Given the description of an element on the screen output the (x, y) to click on. 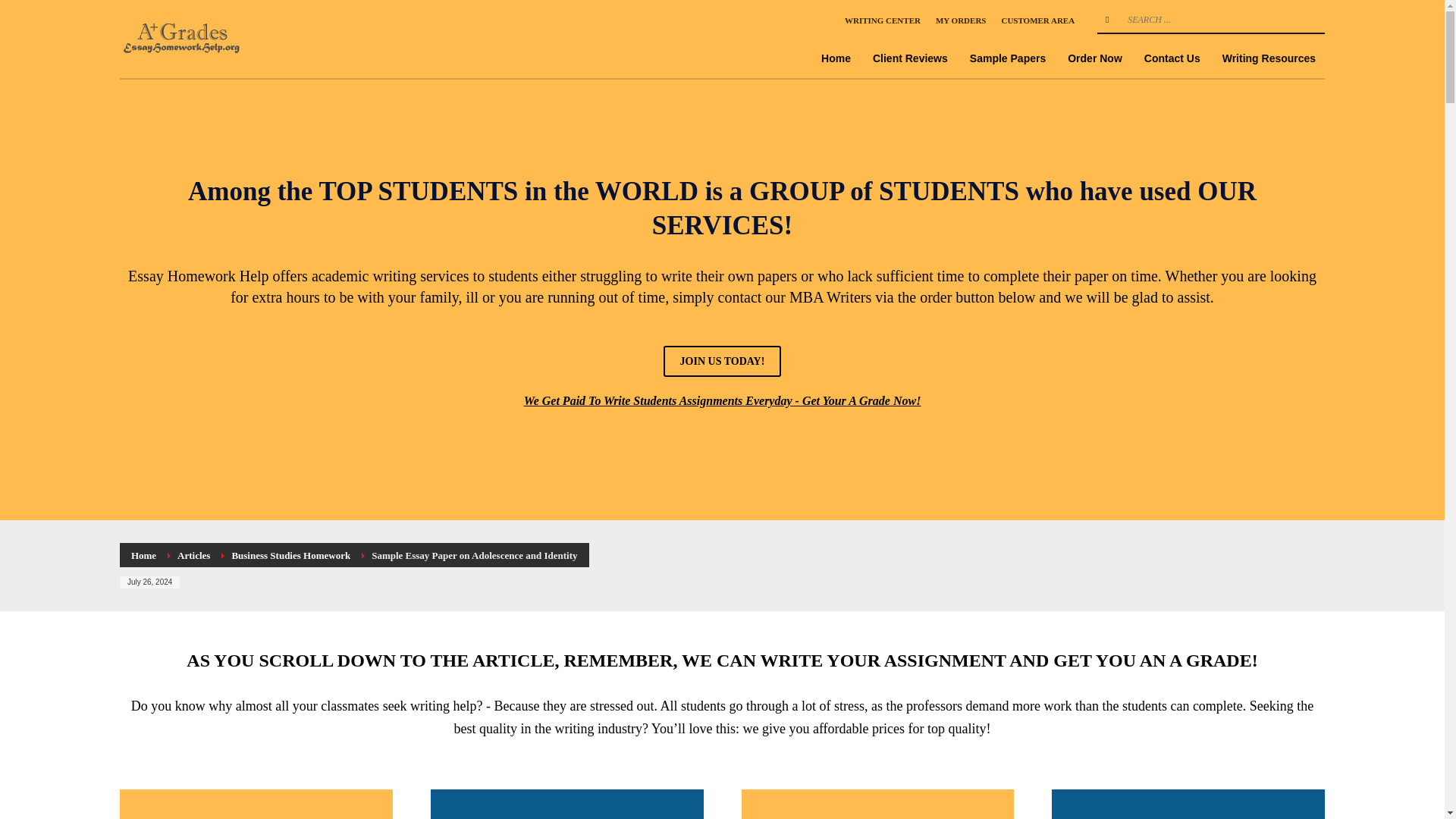
MY ORDERS (961, 20)
Business Studies Homework (290, 555)
Order Now (1094, 57)
CUSTOMER AREA (1037, 20)
Home (143, 555)
JOIN US TODAY! (722, 360)
Contact Us (1172, 57)
Articles (193, 555)
Homework Help (183, 37)
go (1107, 19)
Client Reviews (909, 57)
Sample Papers (1007, 57)
Writing Resources (1268, 57)
WRITING CENTER (882, 20)
Articles (193, 555)
